Given the description of an element on the screen output the (x, y) to click on. 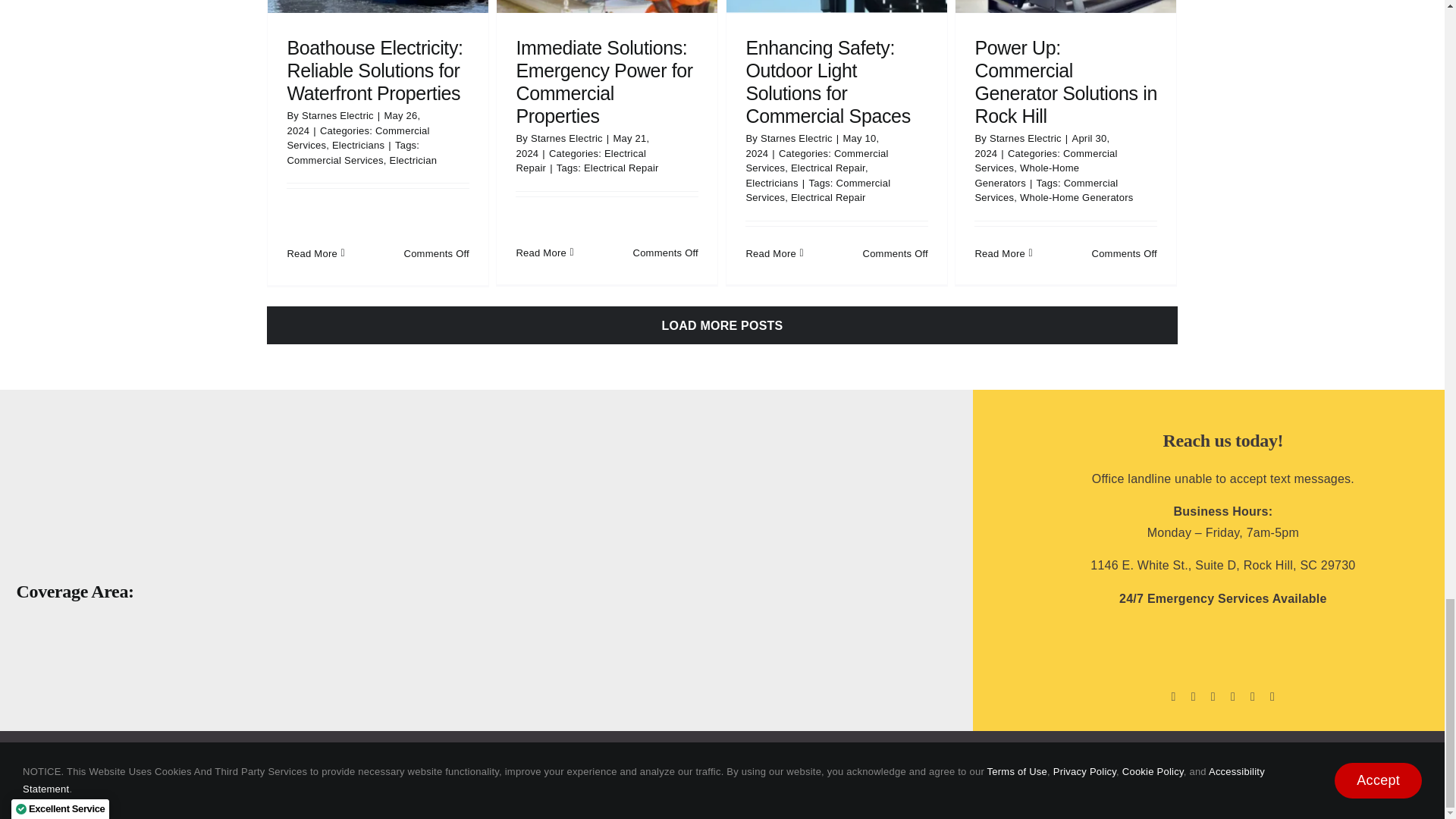
Posts by Starnes Electric (566, 138)
Posts by Starnes Electric (796, 138)
Posts by Starnes Electric (337, 115)
Posts by Starnes Electric (1025, 138)
